Given the description of an element on the screen output the (x, y) to click on. 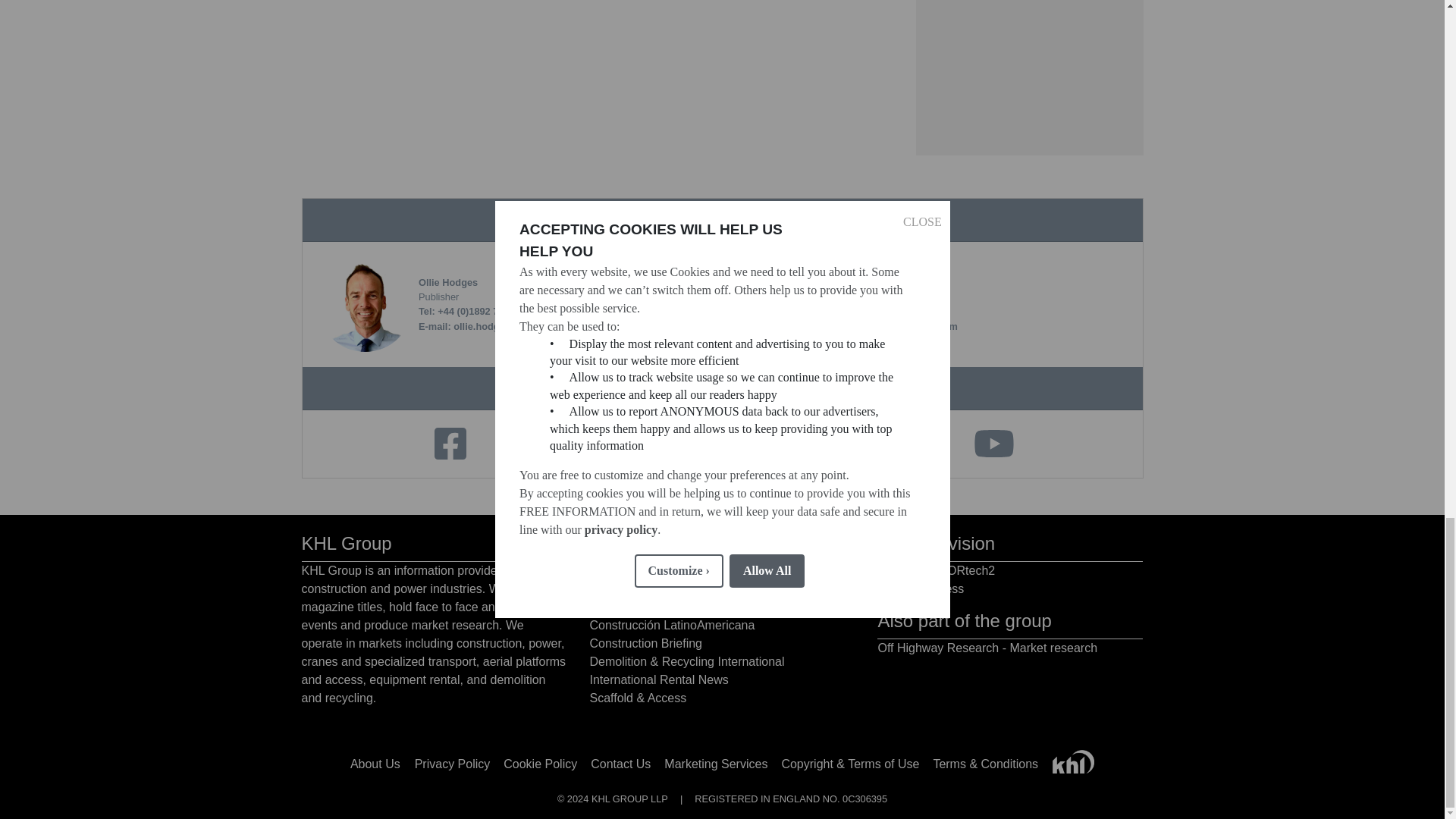
3rd party ad content (1028, 77)
